Given the description of an element on the screen output the (x, y) to click on. 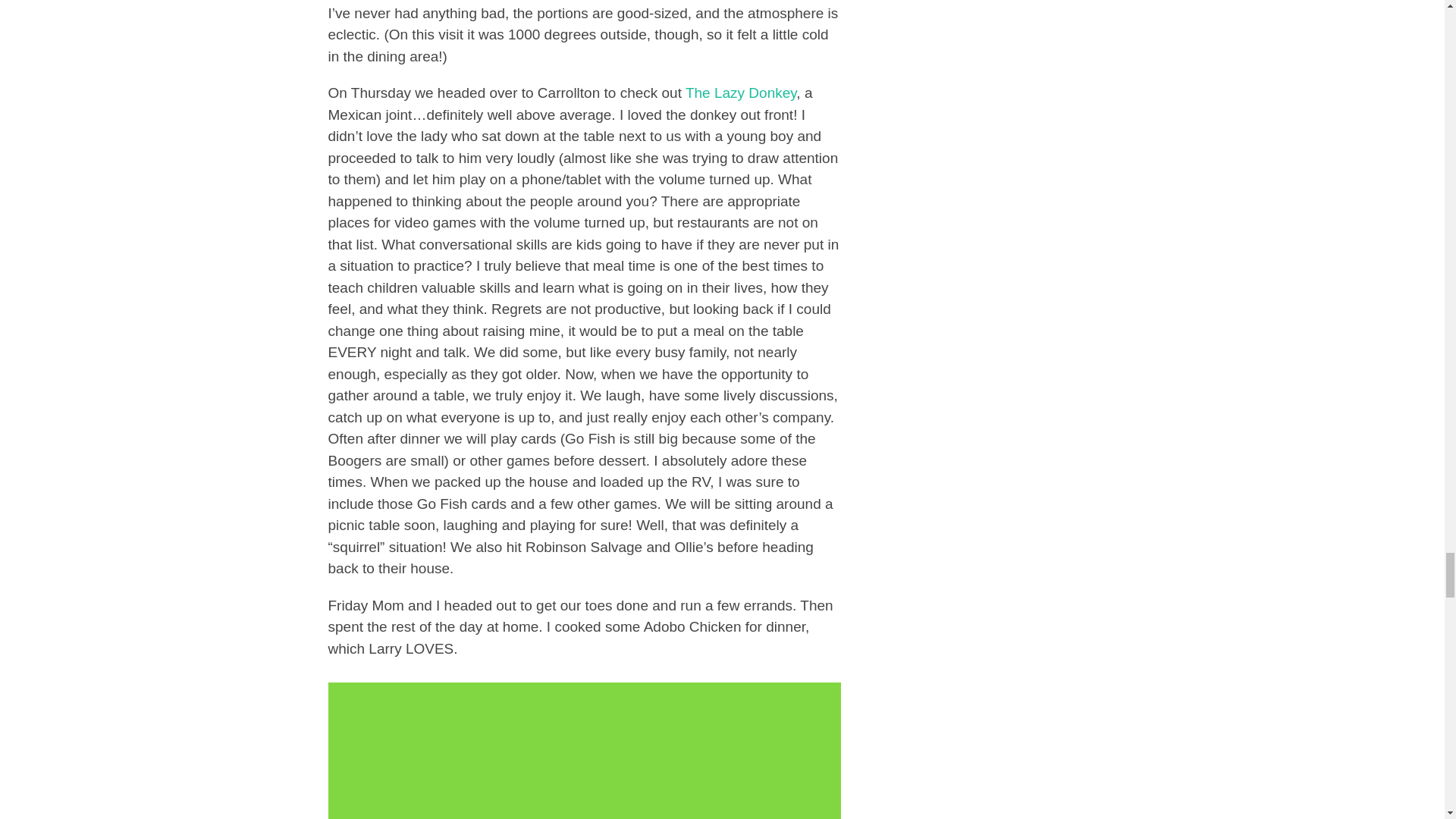
The Lazy Donkey (740, 92)
